Given the description of an element on the screen output the (x, y) to click on. 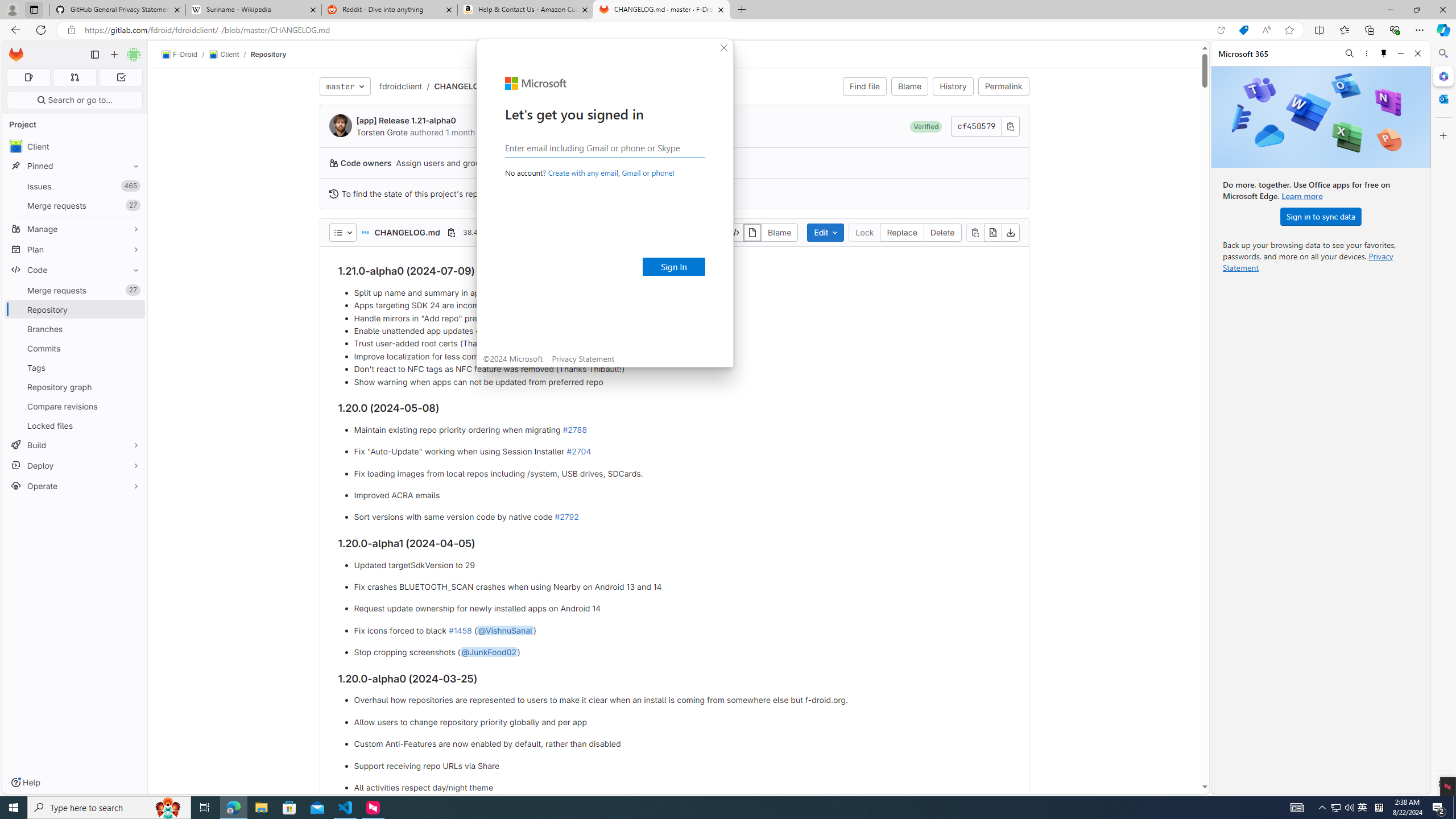
Create new... (113, 54)
Close (723, 47)
Compare revisions (74, 406)
Shopping in Microsoft Edge (1243, 29)
fdroidclient (400, 85)
Restore (1416, 9)
Customize (1442, 135)
Microsoft Edge - 1 running window (233, 807)
Deploy (74, 465)
Pin Compare revisions (132, 406)
Merge requests 27 (74, 289)
